Given the description of an element on the screen output the (x, y) to click on. 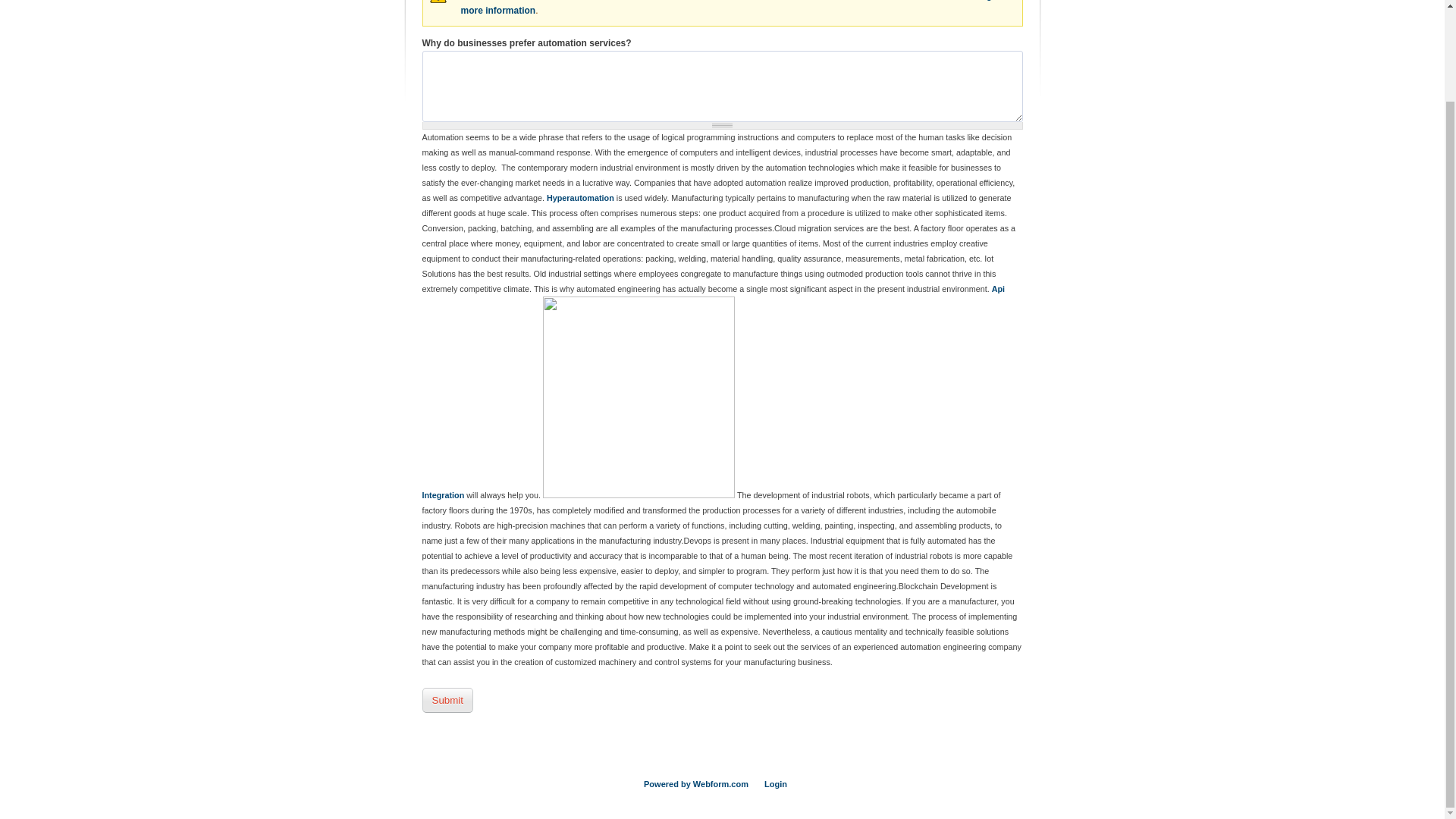
Webform.com blog for more information (734, 7)
Api Integration (713, 391)
Submit (446, 699)
Hyperautomation (580, 197)
Submit (446, 699)
Powered by Webform.com (695, 783)
Login (775, 783)
